Given the description of an element on the screen output the (x, y) to click on. 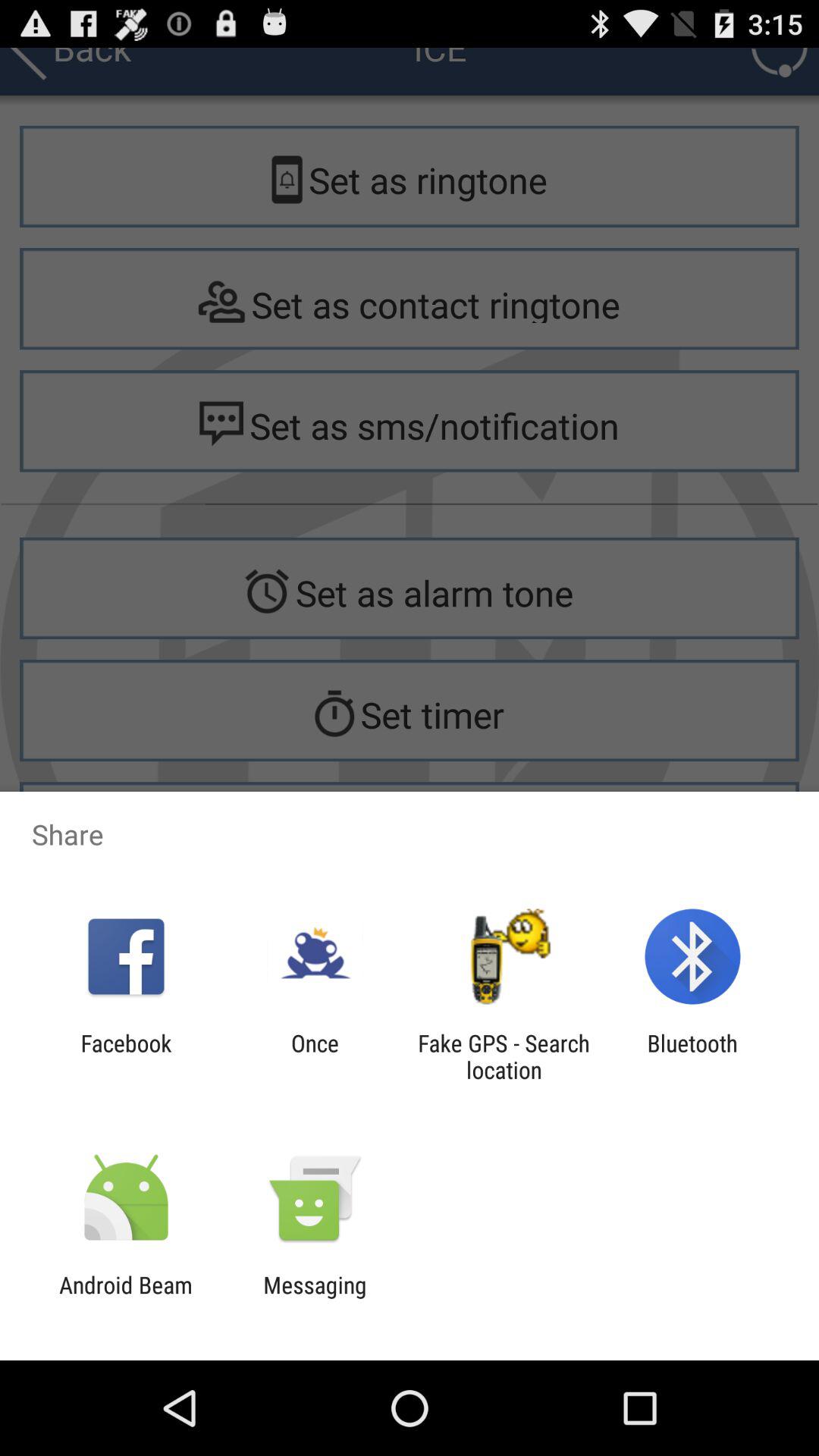
turn off item to the right of fake gps search icon (692, 1056)
